Given the description of an element on the screen output the (x, y) to click on. 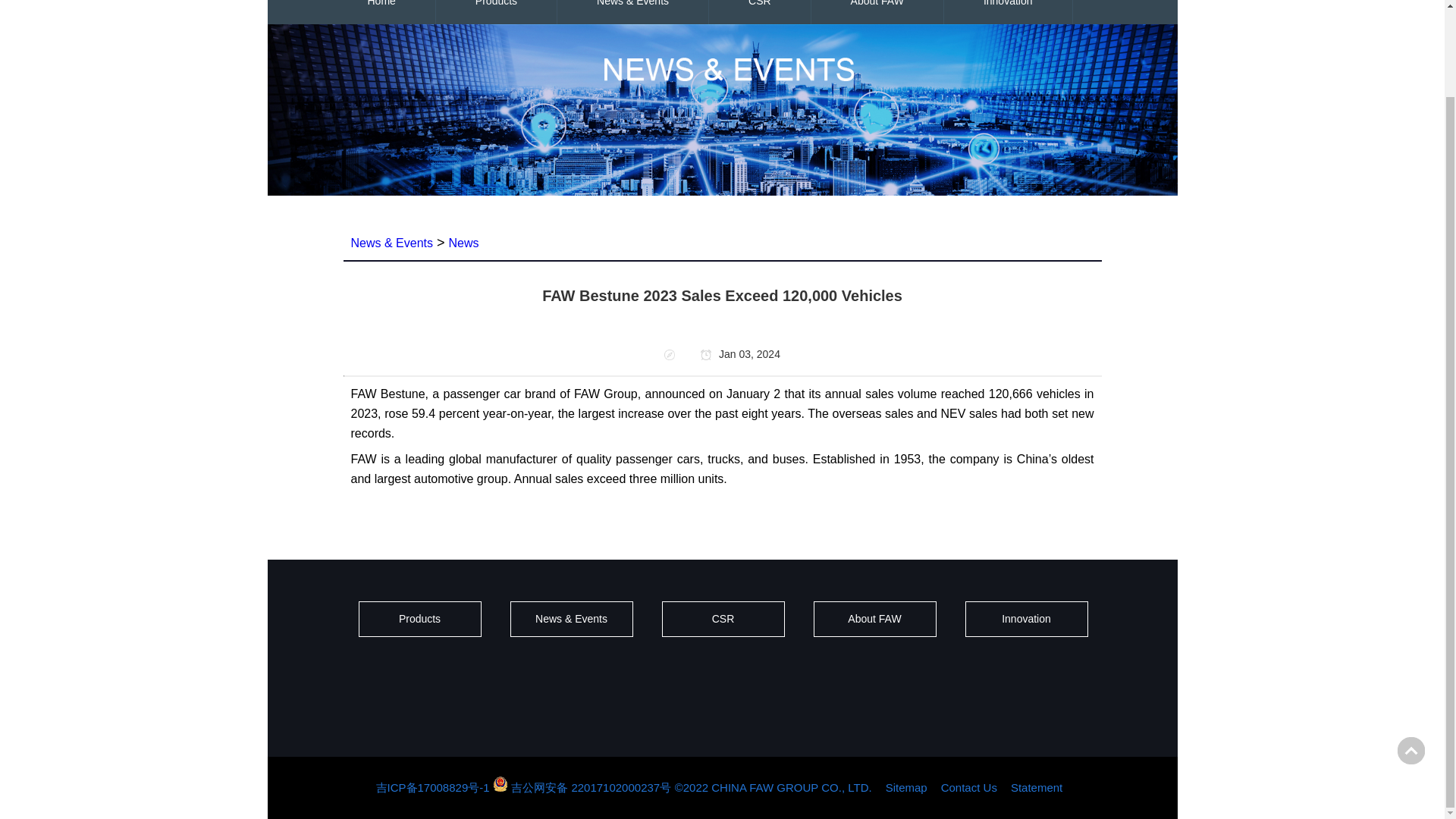
Products (496, 12)
Home (381, 12)
CSR (759, 12)
About FAW (876, 12)
